Given the description of an element on the screen output the (x, y) to click on. 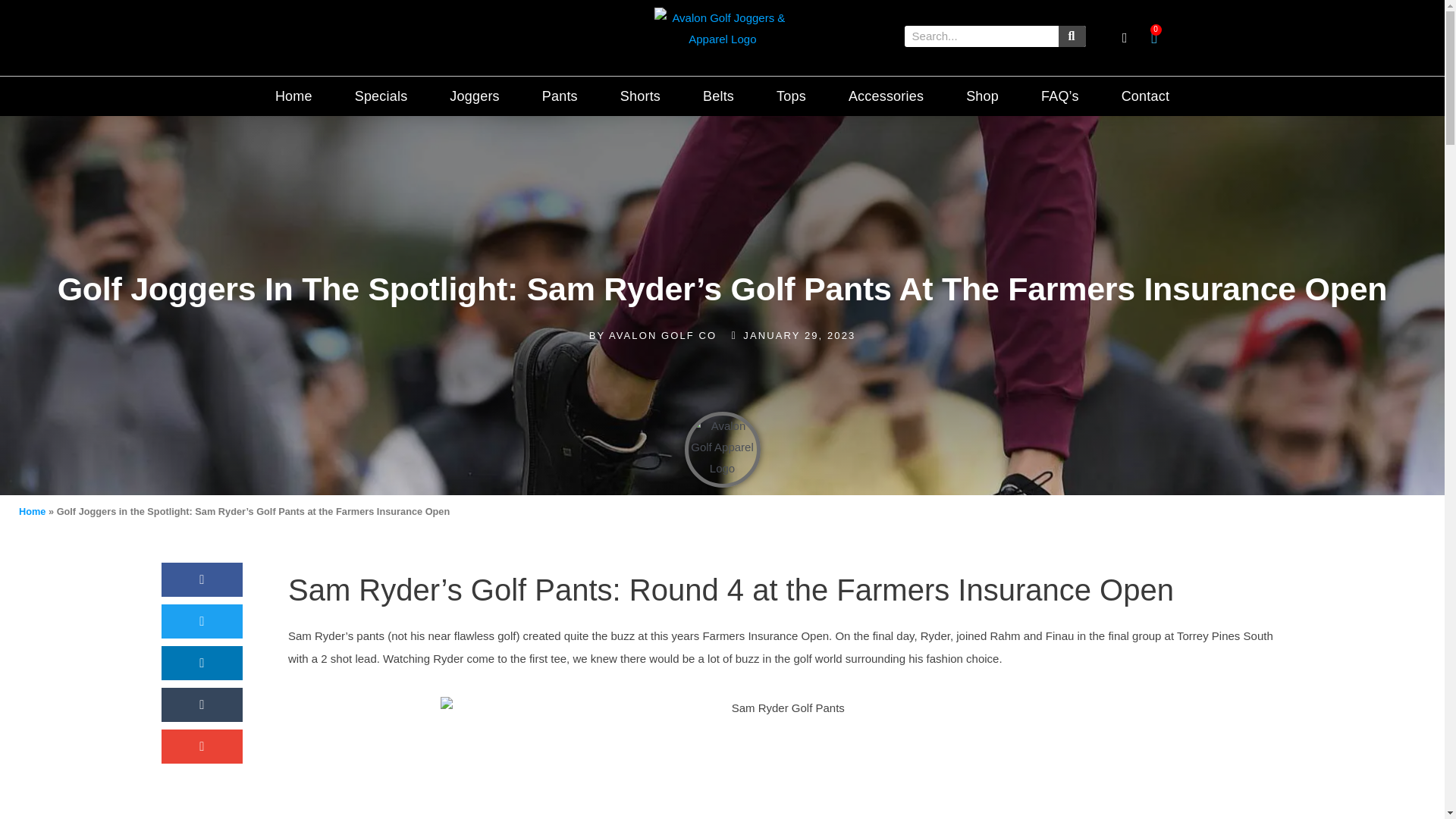
Home (293, 96)
Tops (791, 96)
Joggers (473, 96)
Shorts (639, 96)
SEARCH (1072, 35)
Specials (381, 96)
Belts (718, 96)
Accessories (885, 96)
Shop (982, 96)
Pants (559, 96)
